Given the description of an element on the screen output the (x, y) to click on. 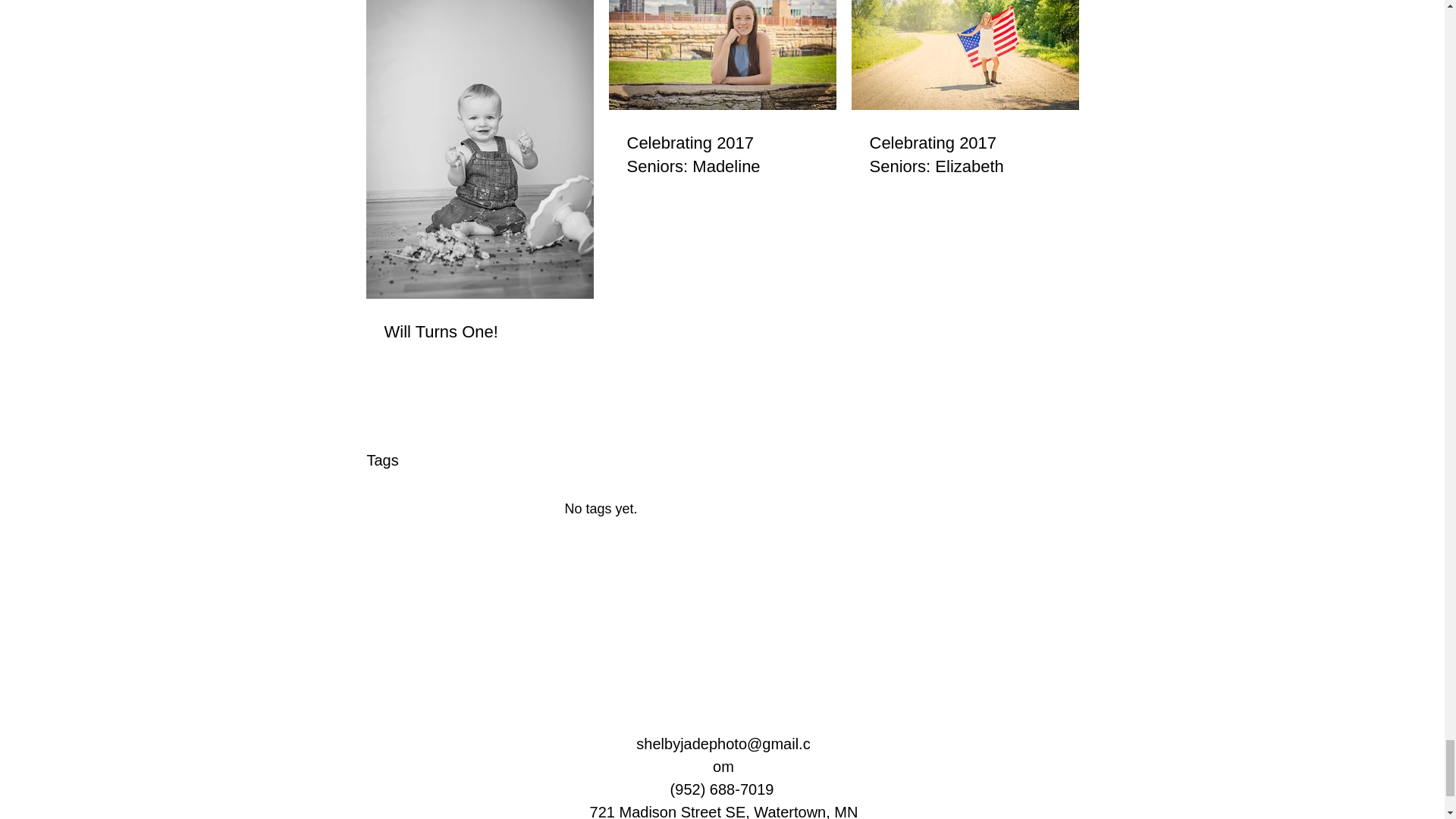
Will Turns One! (479, 332)
Celebrating 2017 Seniors: Elizabeth (964, 155)
Celebrating 2017 Seniors: Madeline (721, 155)
